Given the description of an element on the screen output the (x, y) to click on. 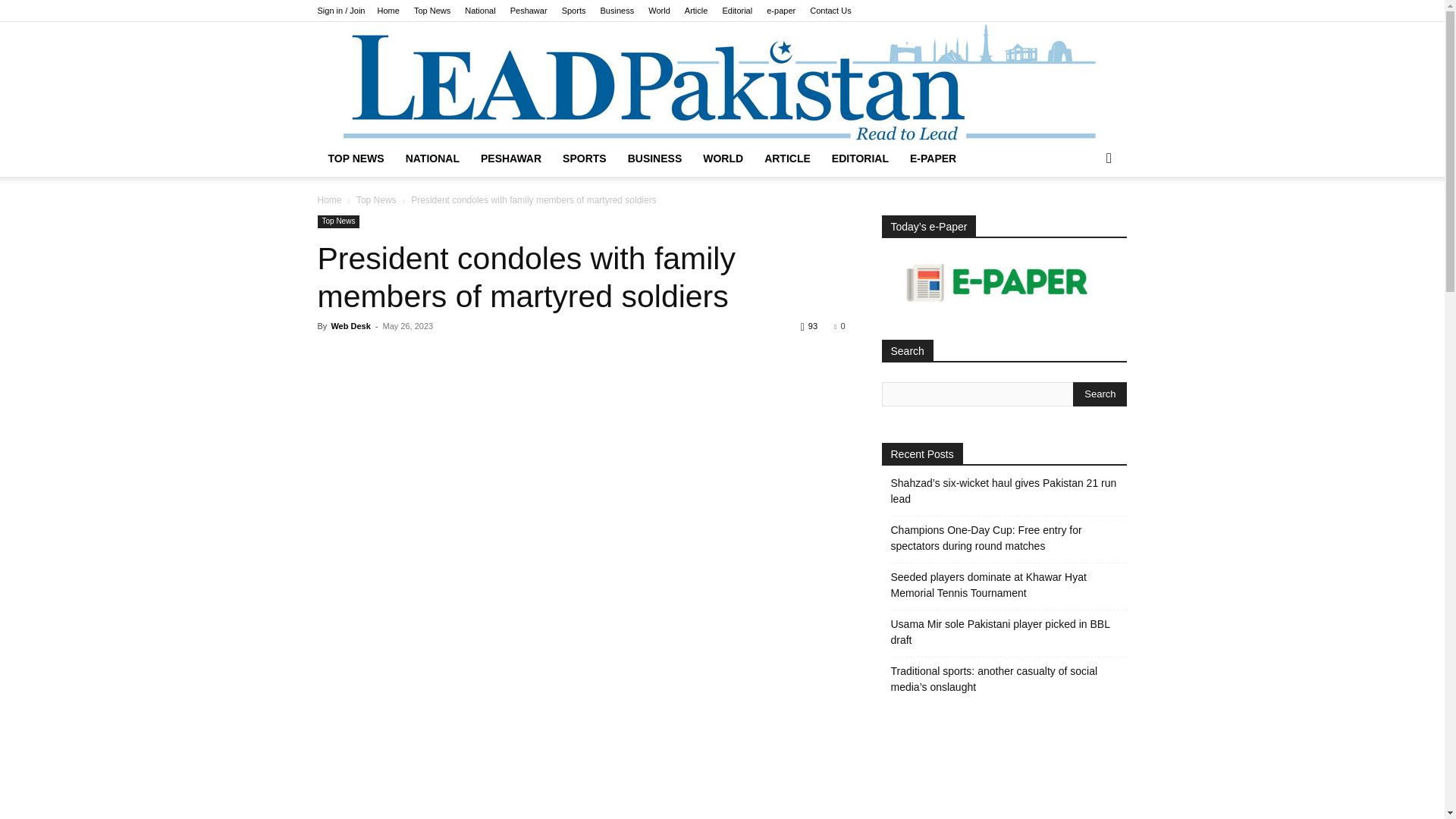
PESHAWAR (510, 158)
SPORTS (584, 158)
Business (616, 10)
Peshawar (529, 10)
Article (695, 10)
Search (1099, 394)
Top News (431, 10)
View all posts in Top News (376, 199)
NATIONAL (432, 158)
Daily Lead Pakistan (721, 81)
